Given the description of an element on the screen output the (x, y) to click on. 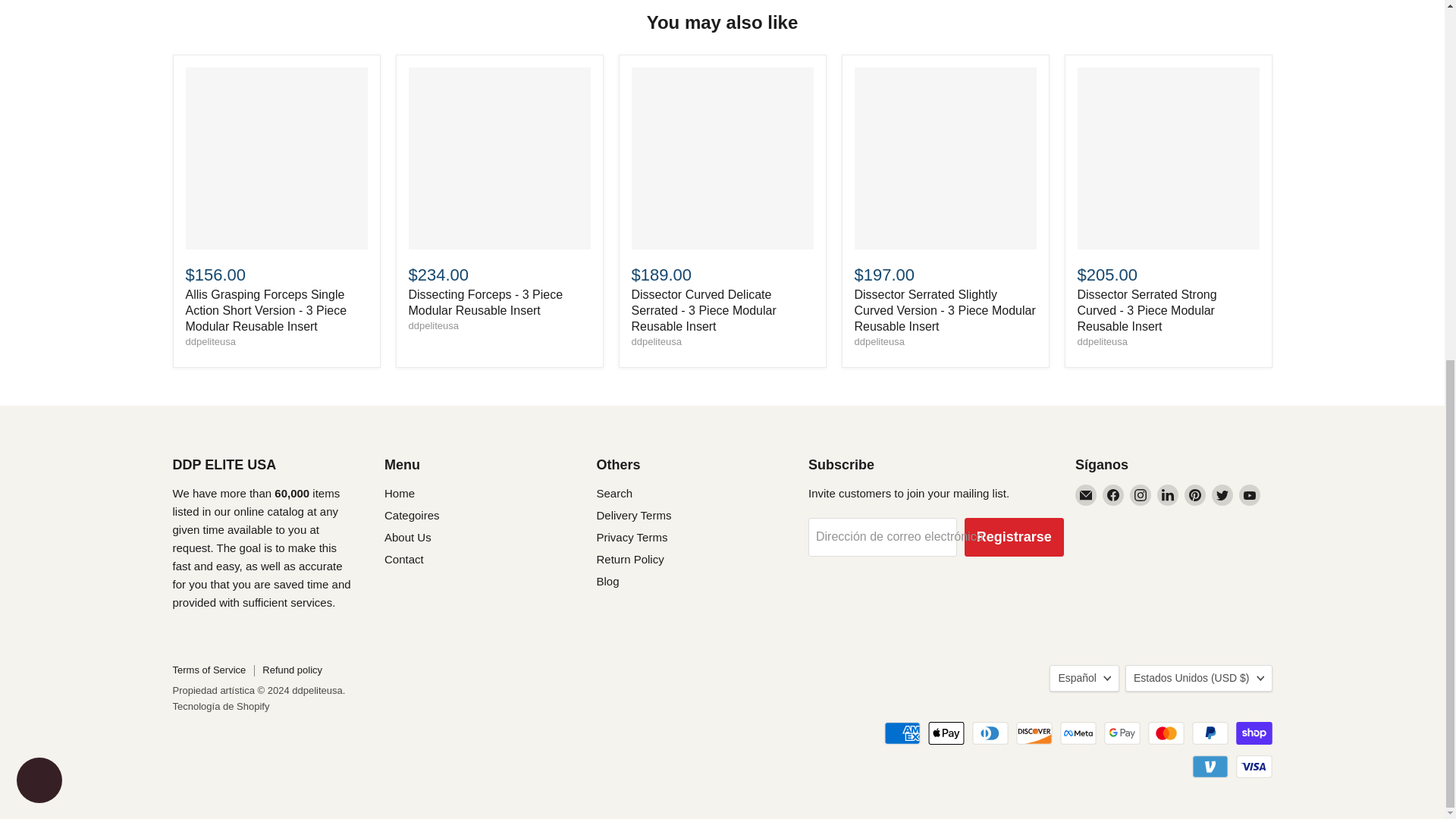
Meta Pay (1077, 732)
American Express (901, 732)
ddpeliteusa (1101, 341)
Twitter (1222, 495)
ddpeliteusa (209, 341)
Apple Pay (945, 732)
ddpeliteusa (432, 325)
Discover (1034, 732)
YouTube (1249, 495)
